Given the description of an element on the screen output the (x, y) to click on. 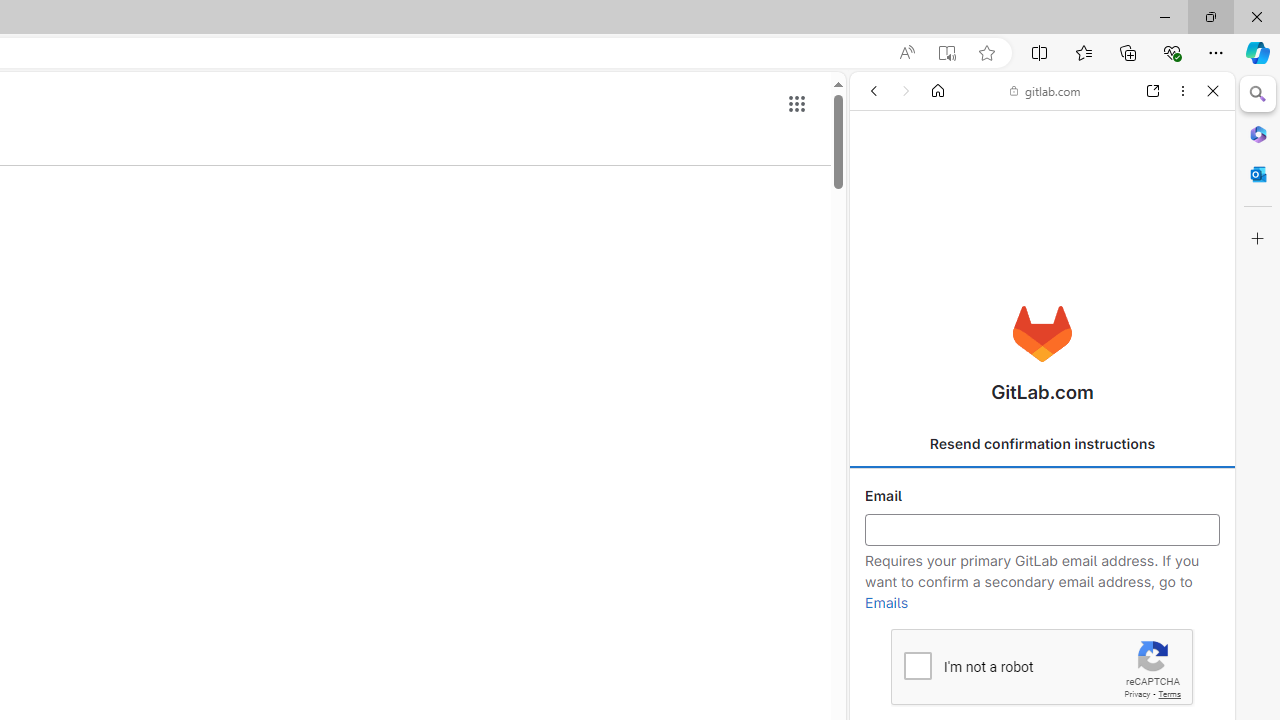
Class: gb_E (796, 103)
Google apps (796, 103)
About GitLab (1042, 592)
ALL   (881, 228)
GitLab (1034, 288)
Terms (1169, 694)
Dashboard (1042, 641)
